Given the description of an element on the screen output the (x, y) to click on. 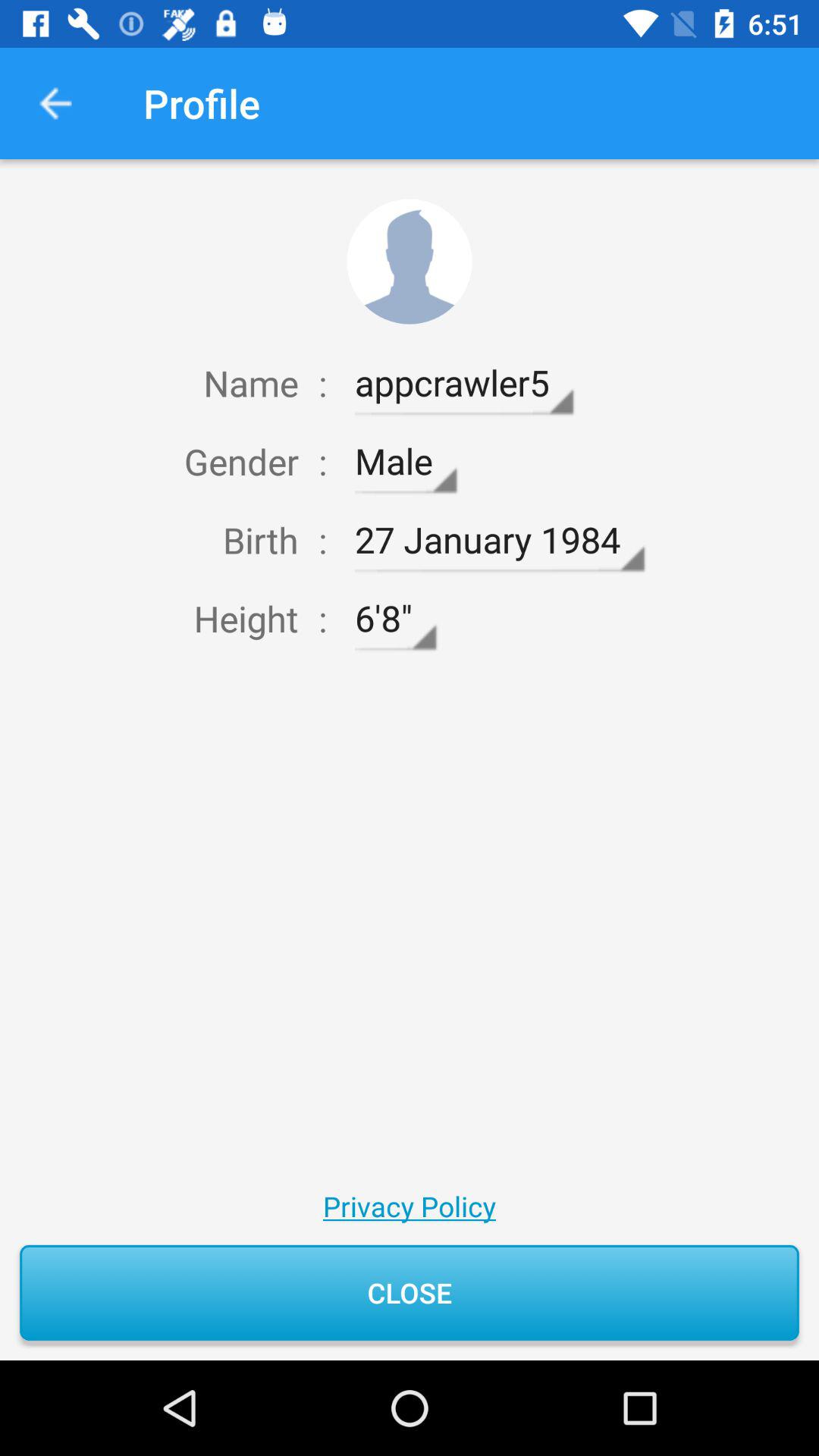
open the icon to the right of : icon (395, 618)
